Given the description of an element on the screen output the (x, y) to click on. 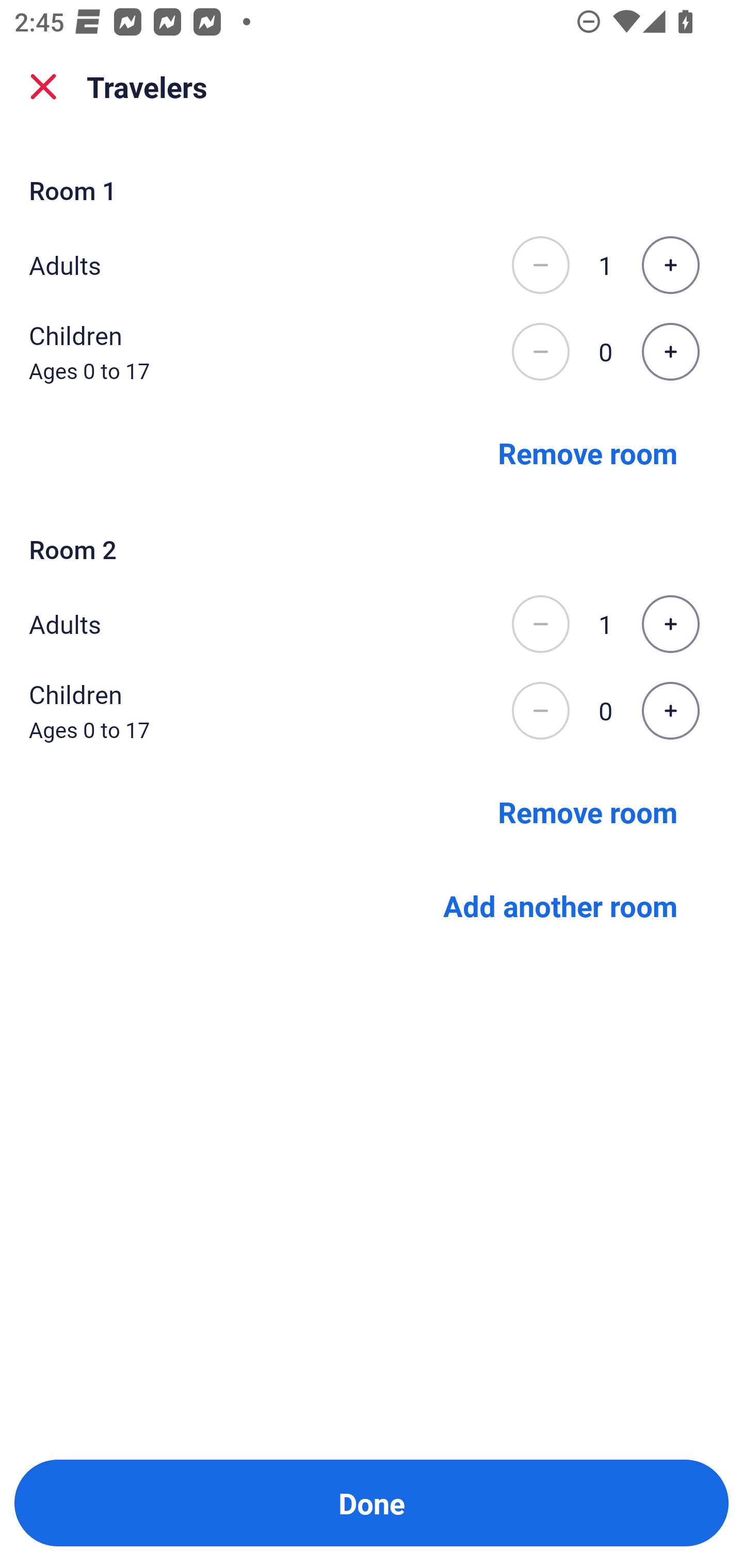
close (43, 86)
Decrease the number of adults (540, 264)
Increase the number of adults (670, 264)
Decrease the number of children (540, 351)
Increase the number of children (670, 351)
Remove room (588, 452)
Decrease the number of adults (540, 623)
Increase the number of adults (670, 623)
Decrease the number of children (540, 710)
Increase the number of children (670, 710)
Remove room (588, 811)
Add another room (560, 905)
Done (371, 1502)
